Given the description of an element on the screen output the (x, y) to click on. 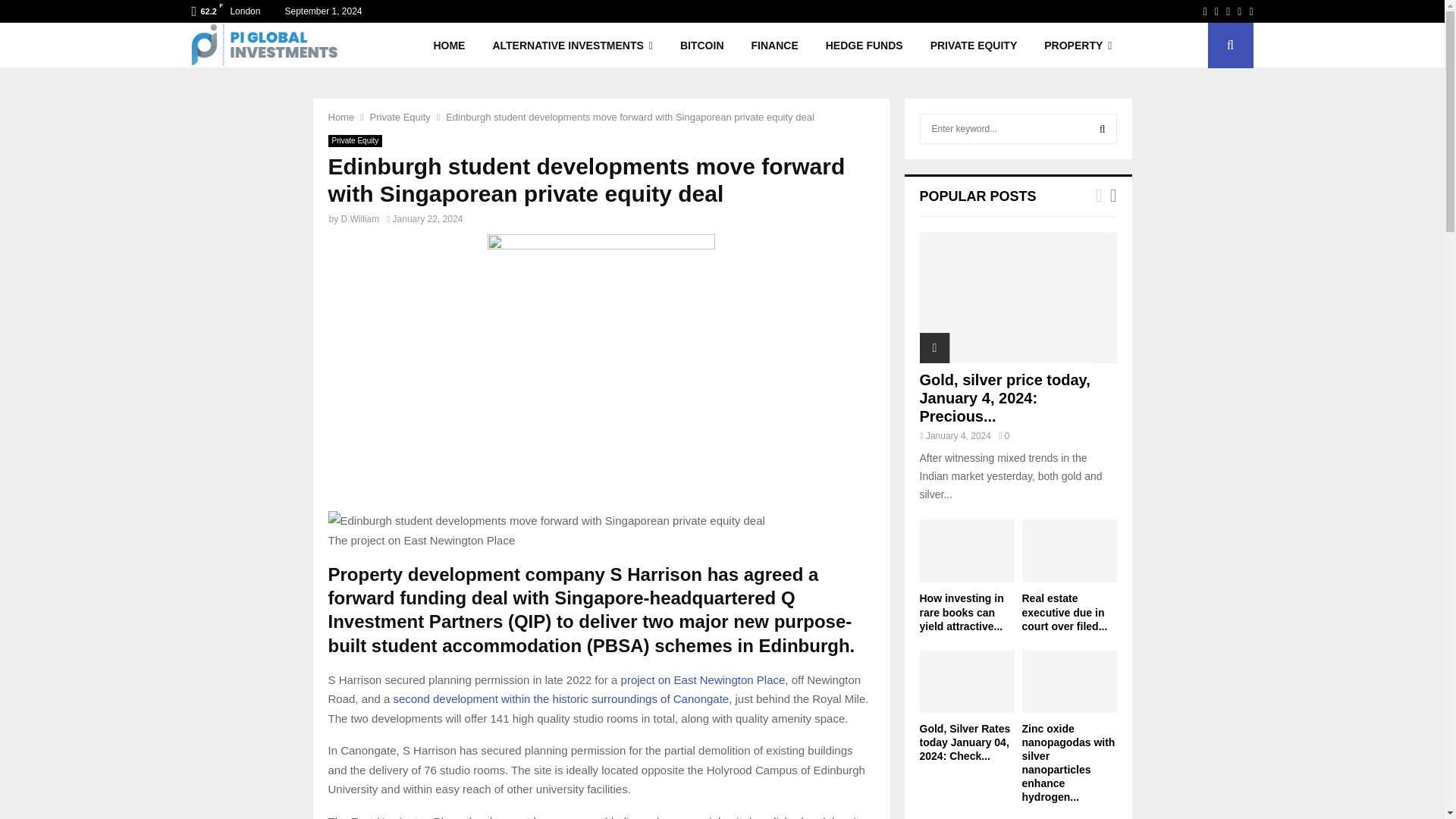
PROPERTY (1077, 44)
project on East Newington Place (703, 679)
HOME (449, 44)
ALTERNATIVE INVESTMENTS (572, 44)
D.William (360, 218)
BITCOIN (702, 44)
Private Equity (399, 116)
Private Equity (354, 141)
